Given the description of an element on the screen output the (x, y) to click on. 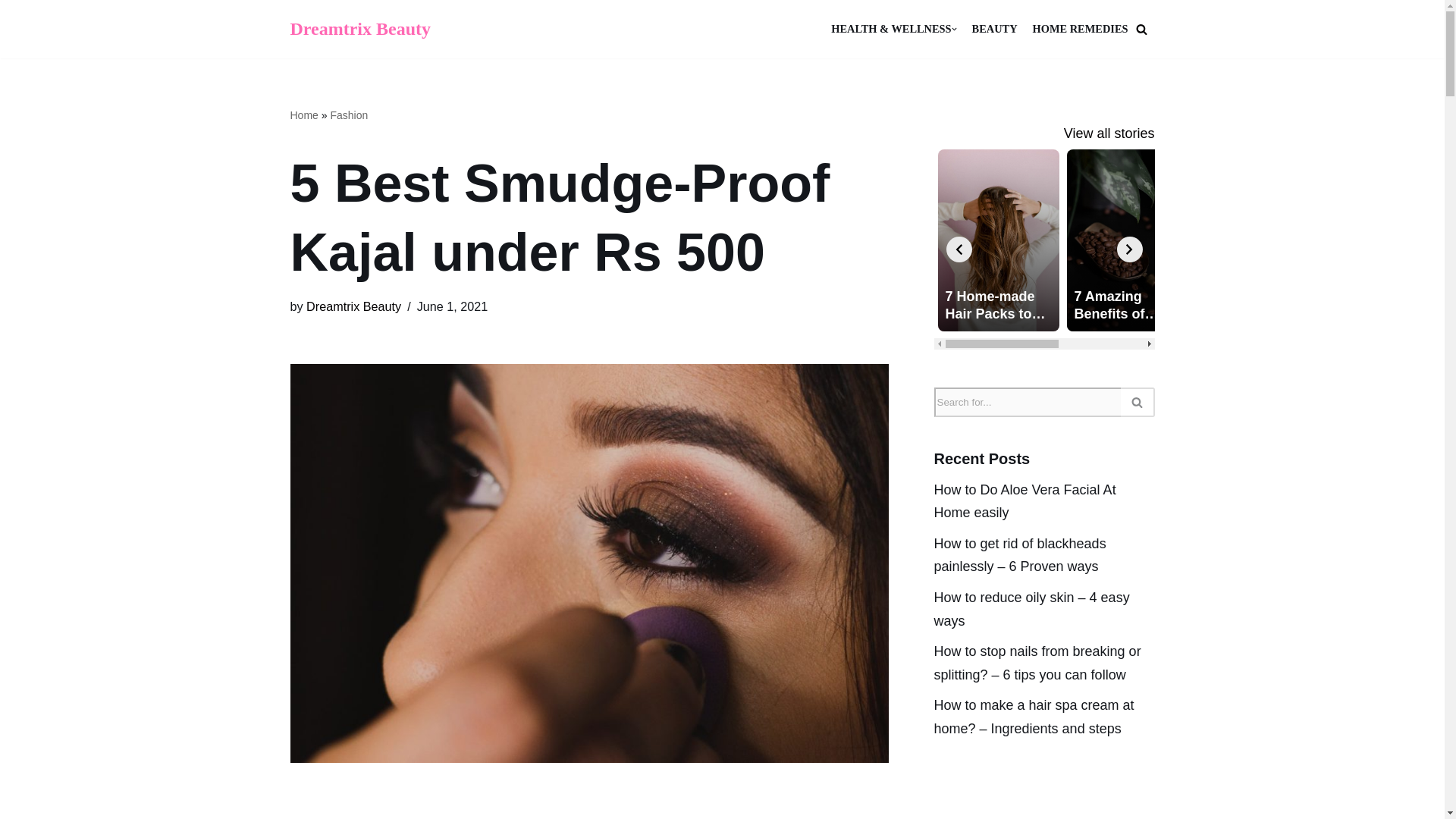
Posts by Dreamtrix Beauty (353, 305)
HOME REMEDIES (1080, 28)
Home (303, 114)
Skip to content (11, 31)
BEAUTY (994, 28)
Dreamtrix Beauty (353, 305)
Fashion (349, 114)
Dreamtrix Beauty (359, 29)
